Given the description of an element on the screen output the (x, y) to click on. 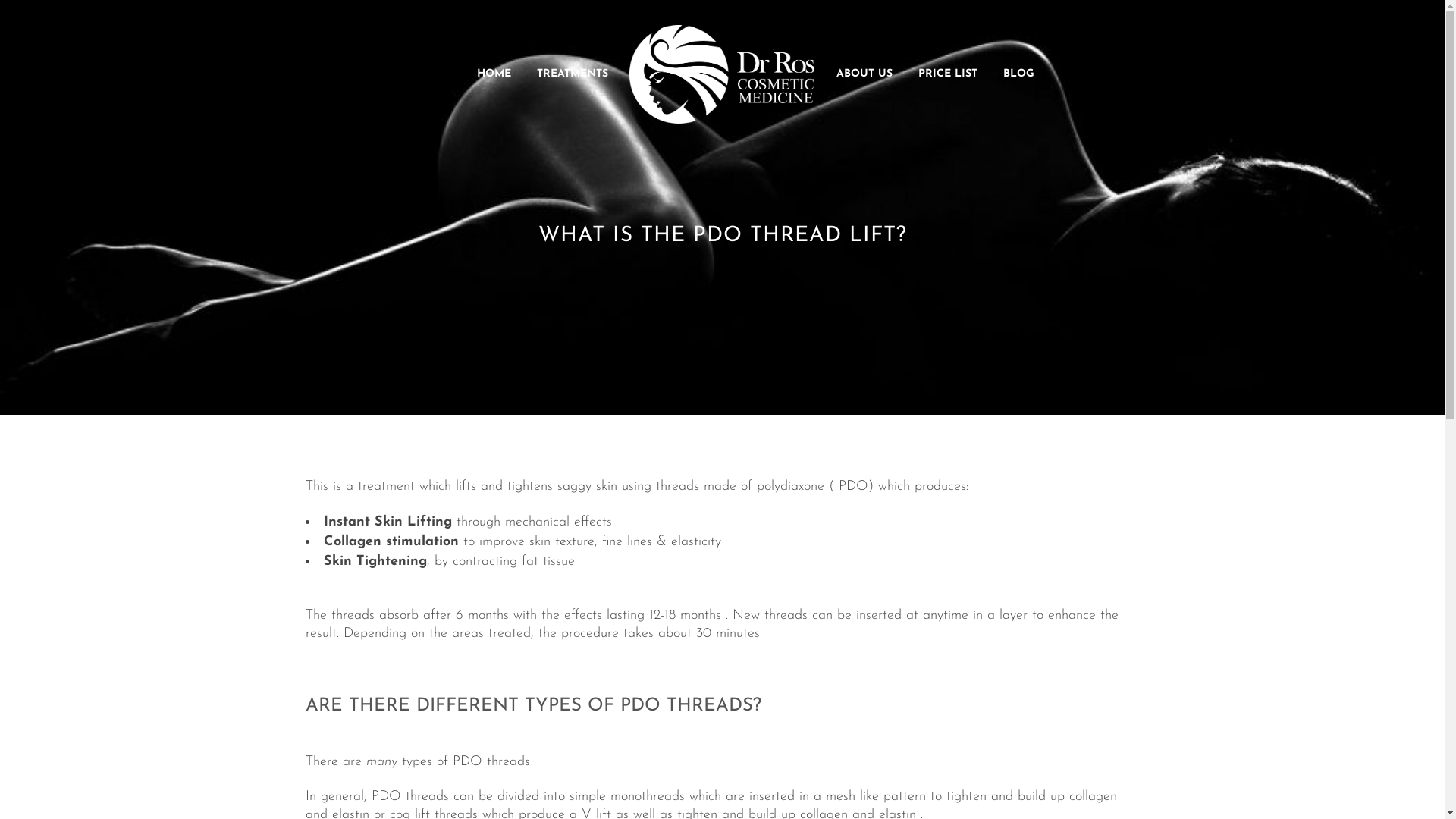
HOME Element type: text (494, 74)
BLOG Element type: text (1018, 74)
ABOUT US Element type: text (864, 74)
PRICE LIST Element type: text (947, 74)
TREATMENTS Element type: text (572, 74)
